Given the description of an element on the screen output the (x, y) to click on. 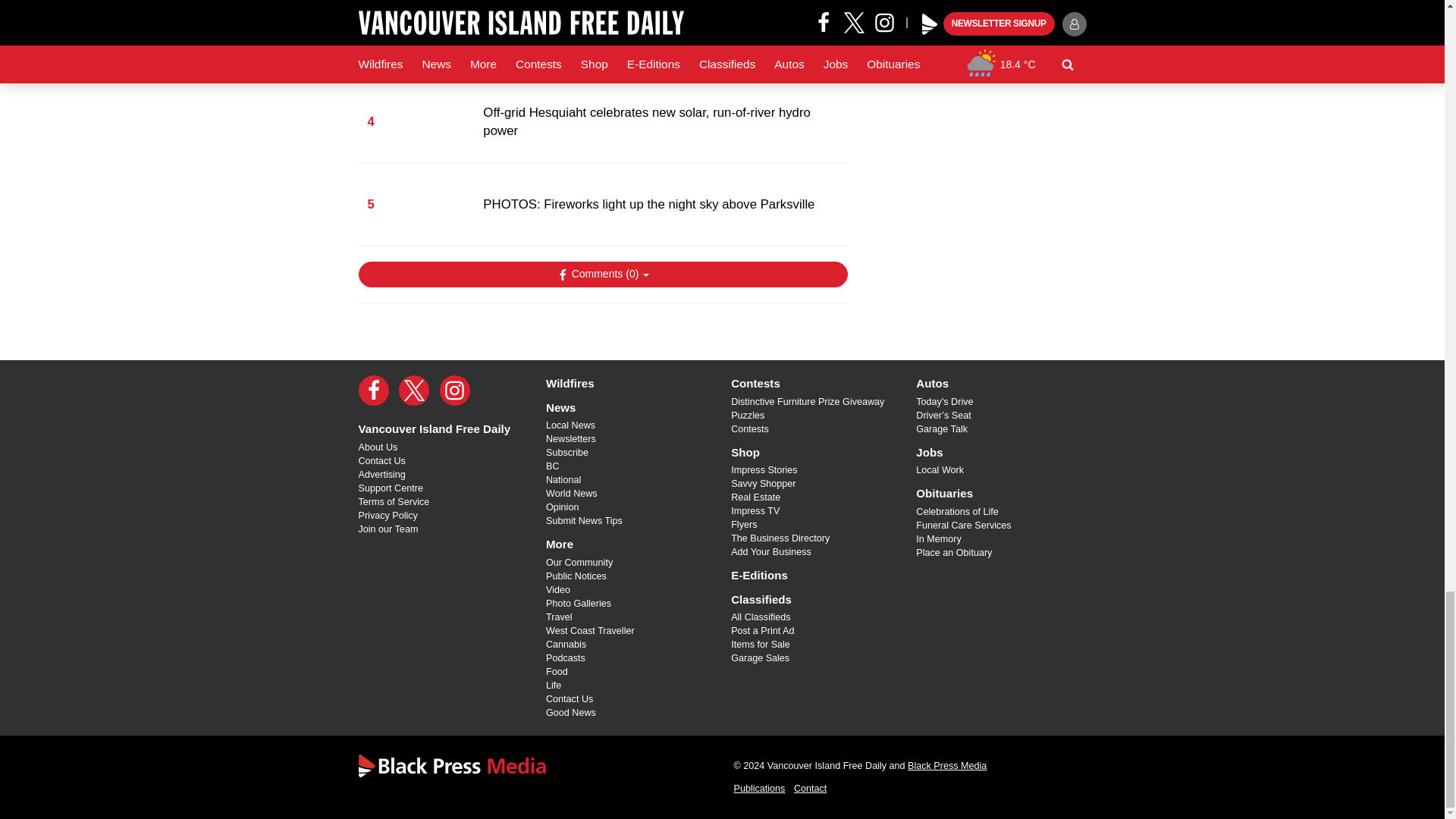
Facebook (373, 390)
Instagram (454, 390)
Show Comments (602, 274)
X (413, 390)
